Given the description of an element on the screen output the (x, y) to click on. 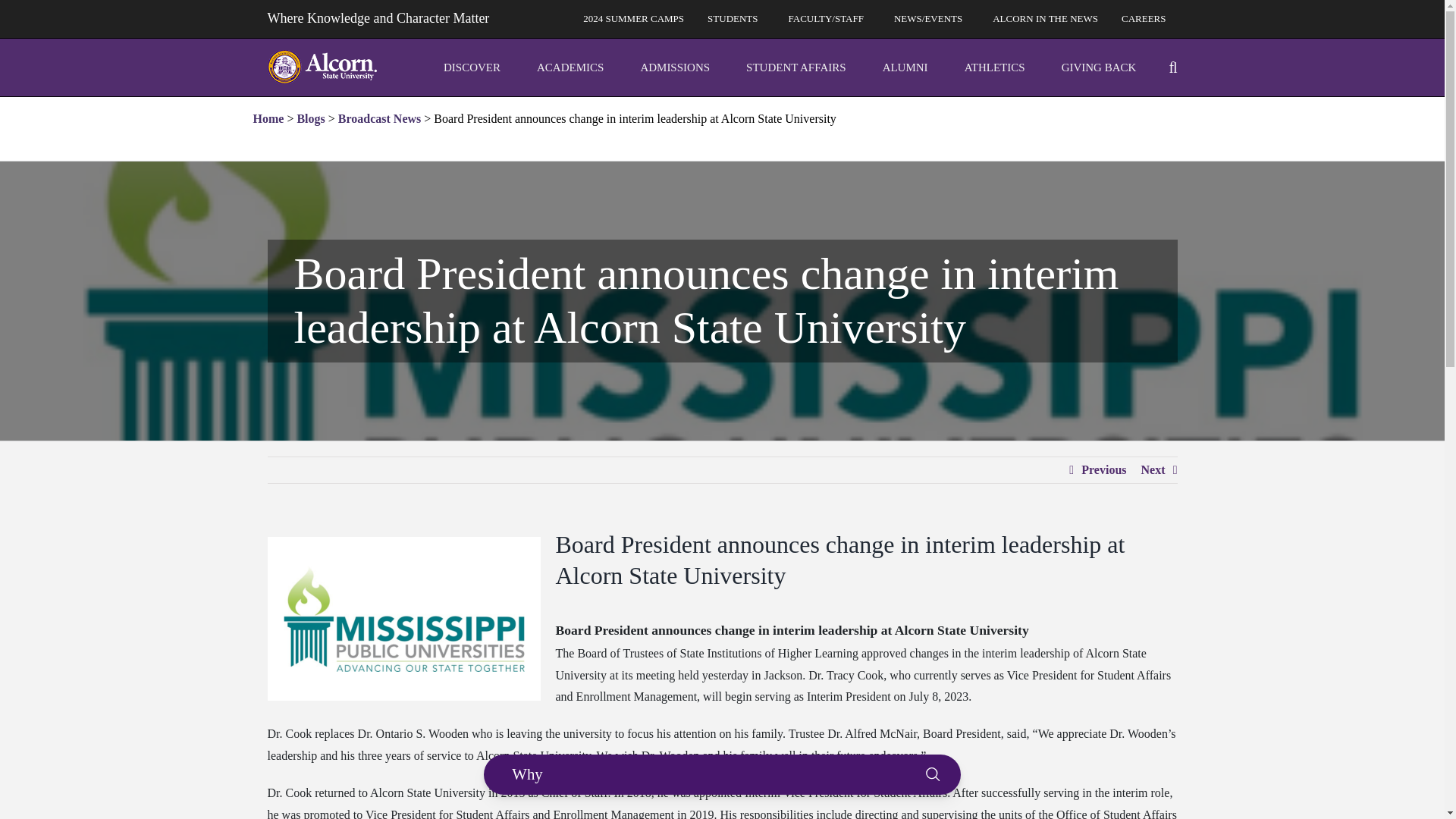
oip (478, 67)
Go to Blogs. (310, 118)
STUDENTS (735, 18)
Go to Home. (268, 118)
2024 SUMMER CAMPS (633, 18)
Go to the Broadcast News category archives. (378, 118)
